Given the description of an element on the screen output the (x, y) to click on. 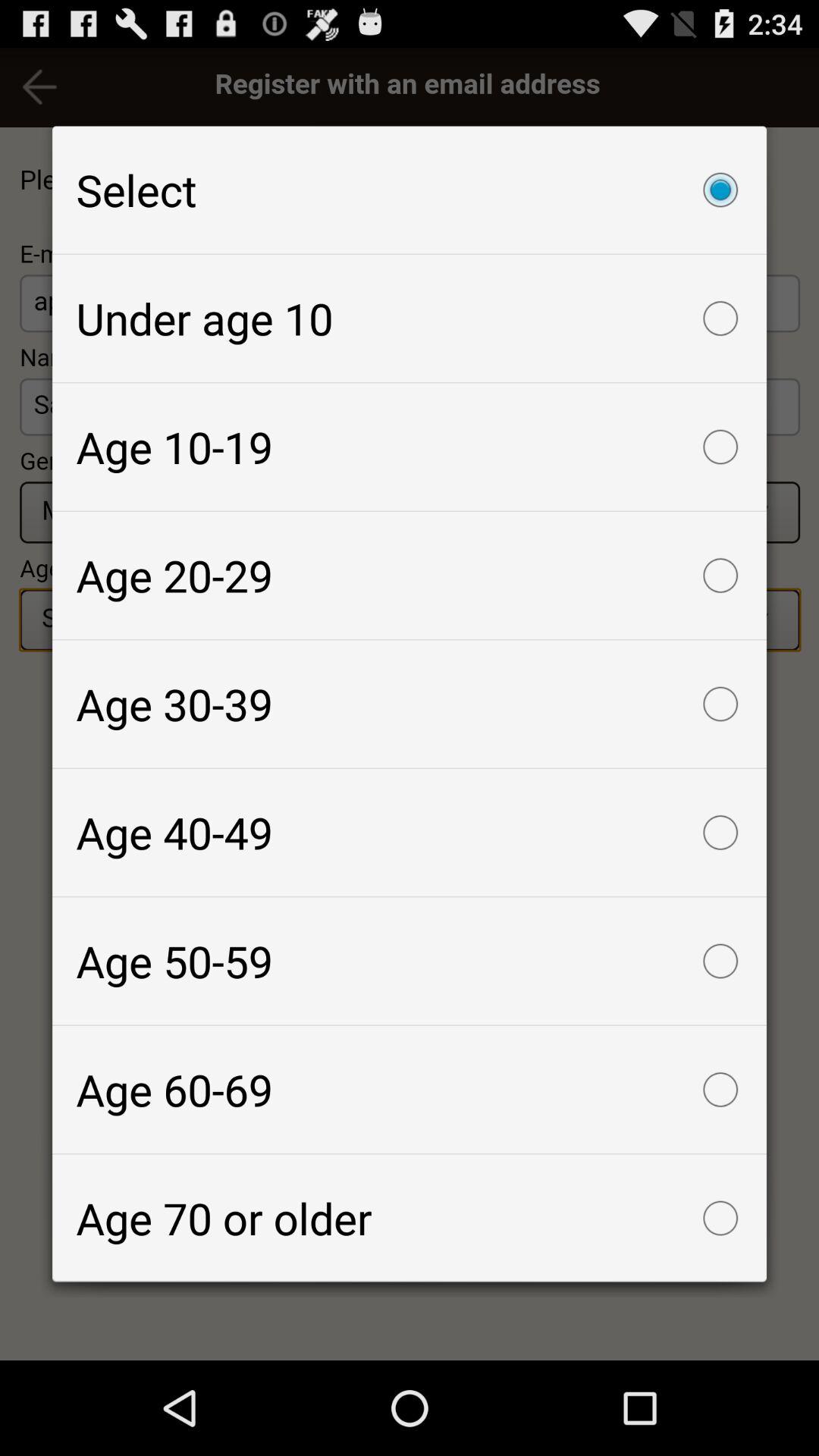
choose icon below the age 60-69 checkbox (409, 1217)
